Given the description of an element on the screen output the (x, y) to click on. 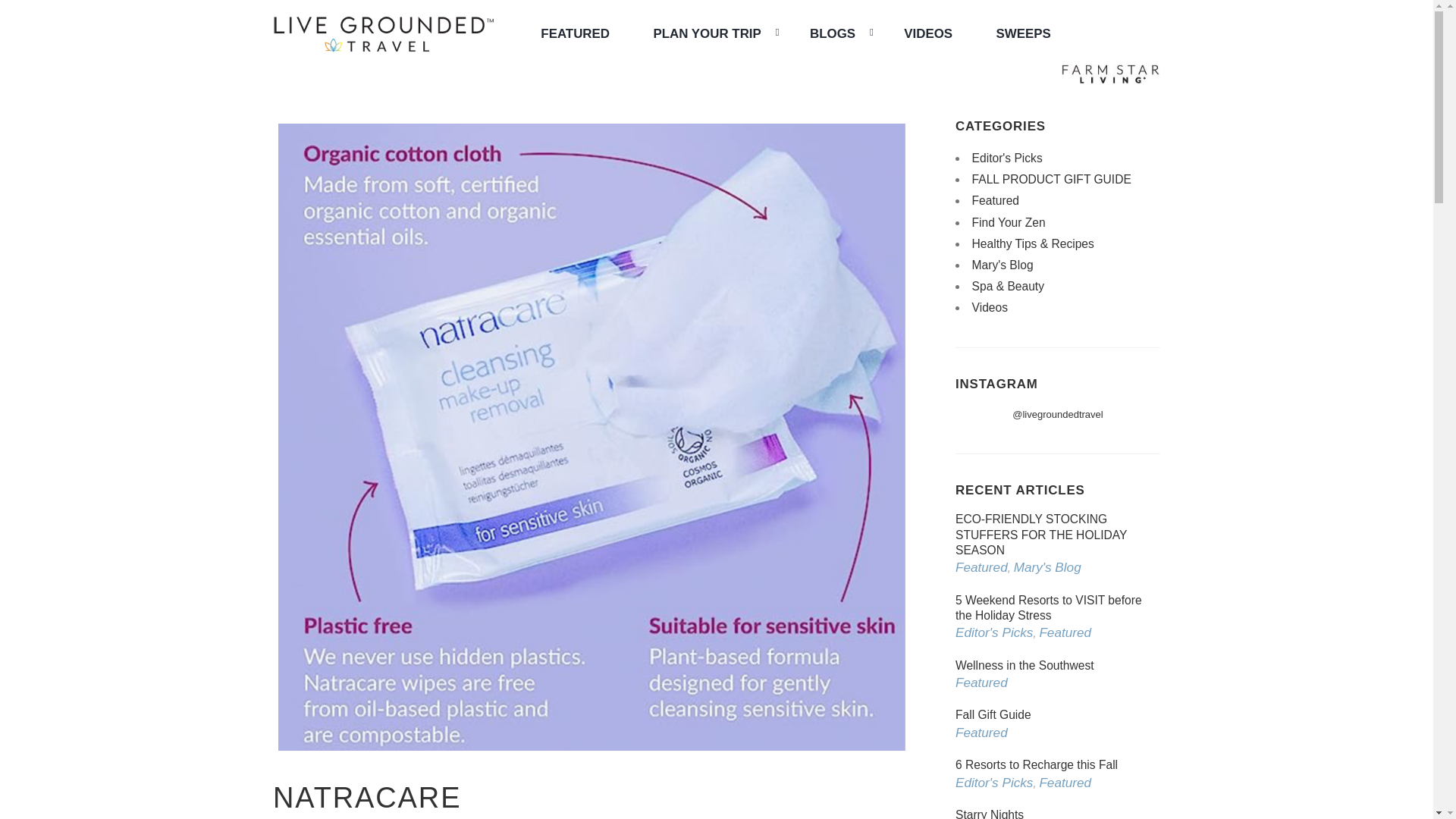
FEATURED (574, 34)
PLAN YOUR TRIP (708, 34)
BLOGS (834, 34)
VIDEOS (927, 34)
SWEEPS (1023, 34)
